Given the description of an element on the screen output the (x, y) to click on. 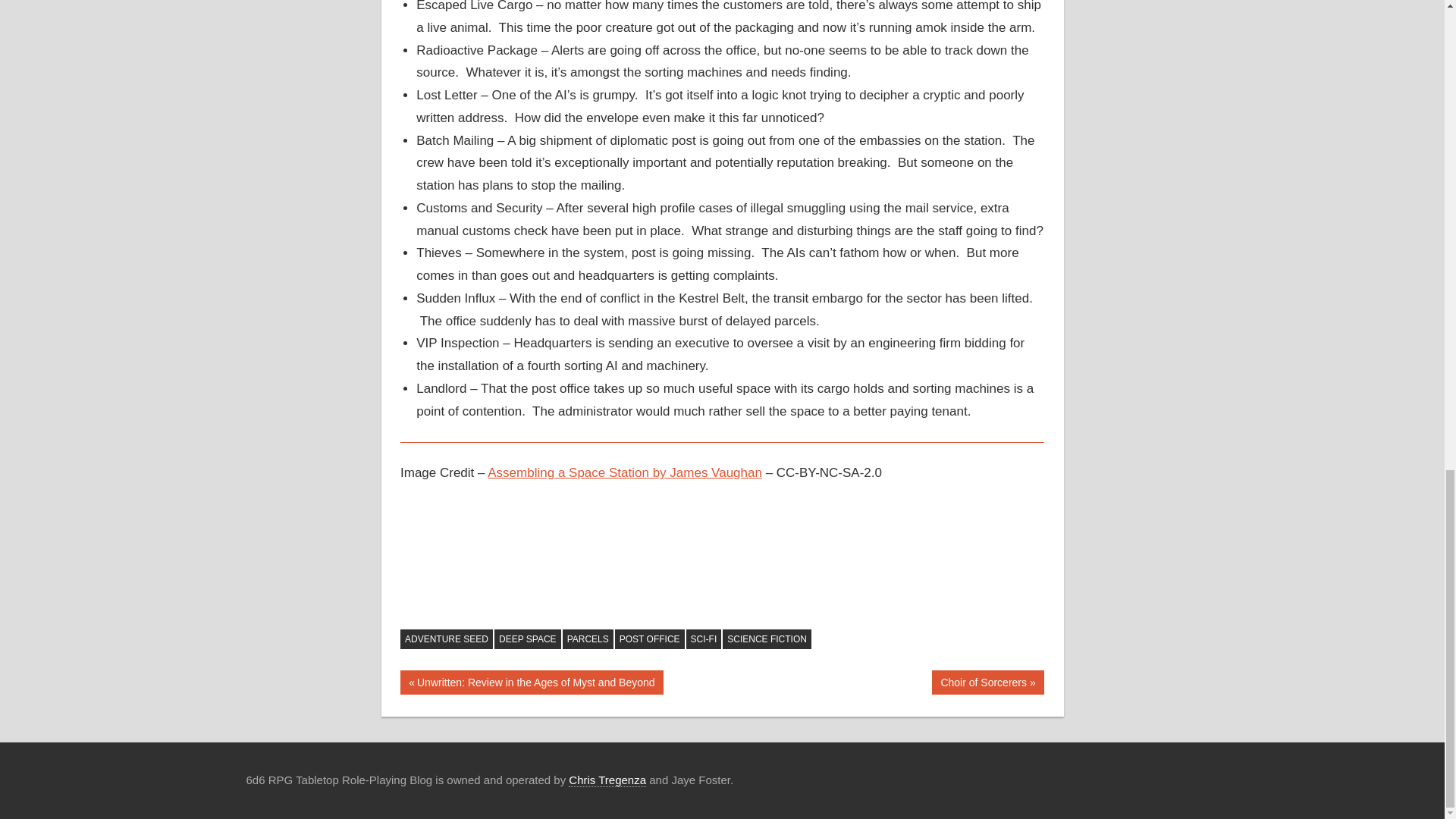
Assembling a Space Station by James Vaughan (624, 472)
PARCELS (587, 639)
POST OFFICE (649, 639)
DEEP SPACE (527, 639)
SCIENCE FICTION (987, 682)
Chris Tregenza (766, 639)
SCI-FI (607, 780)
ADVENTURE SEED (703, 639)
